Given the description of an element on the screen output the (x, y) to click on. 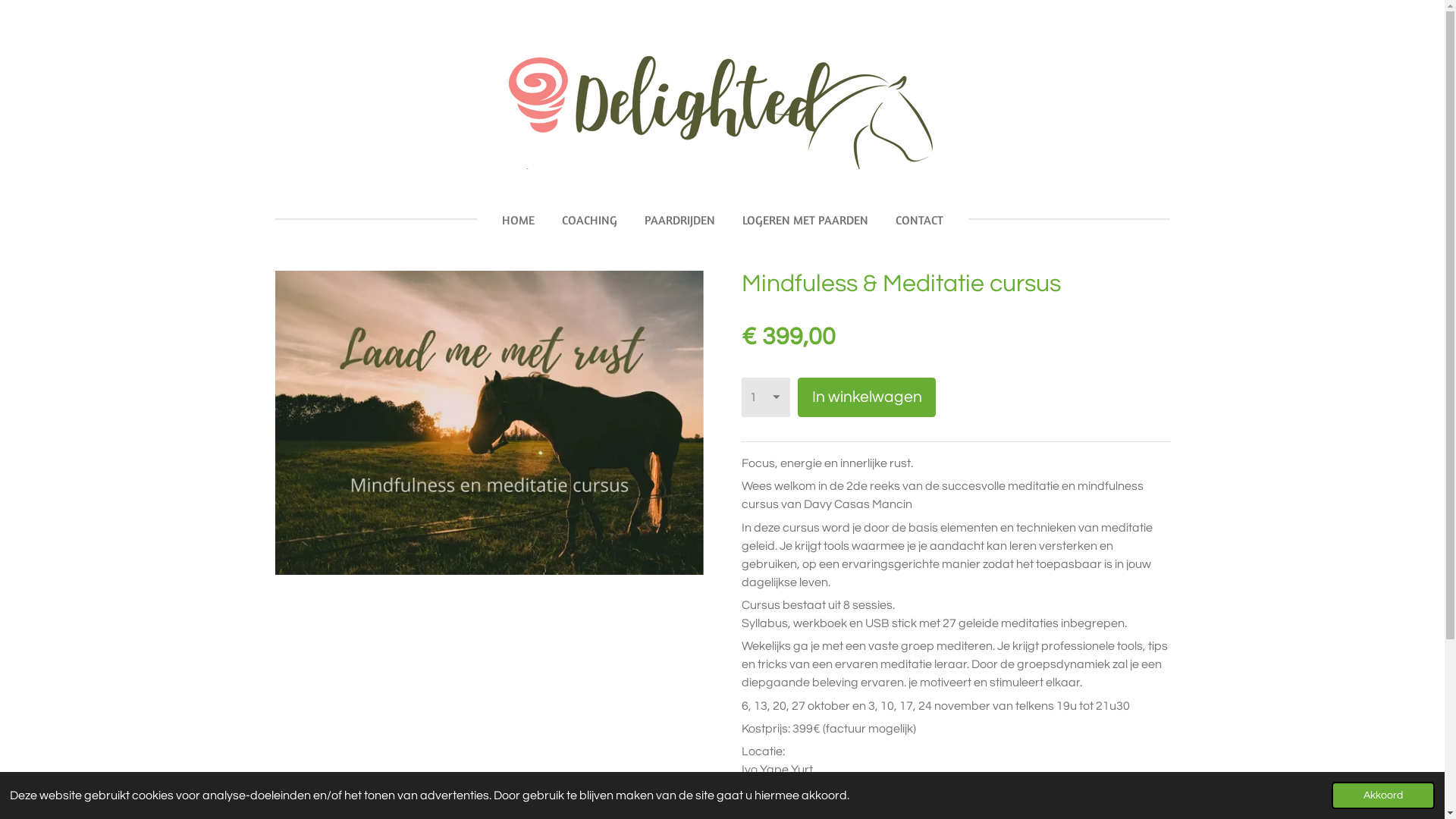
COACHING Element type: text (589, 219)
Delighted Element type: hover (722, 103)
CONTACT Element type: text (919, 219)
HOME Element type: text (517, 219)
In winkelwagen Element type: text (866, 397)
Akkoord Element type: text (1382, 795)
LOGEREN MET PAARDEN Element type: text (805, 219)
PAARDRIJDEN Element type: text (678, 219)
